Given the description of an element on the screen output the (x, y) to click on. 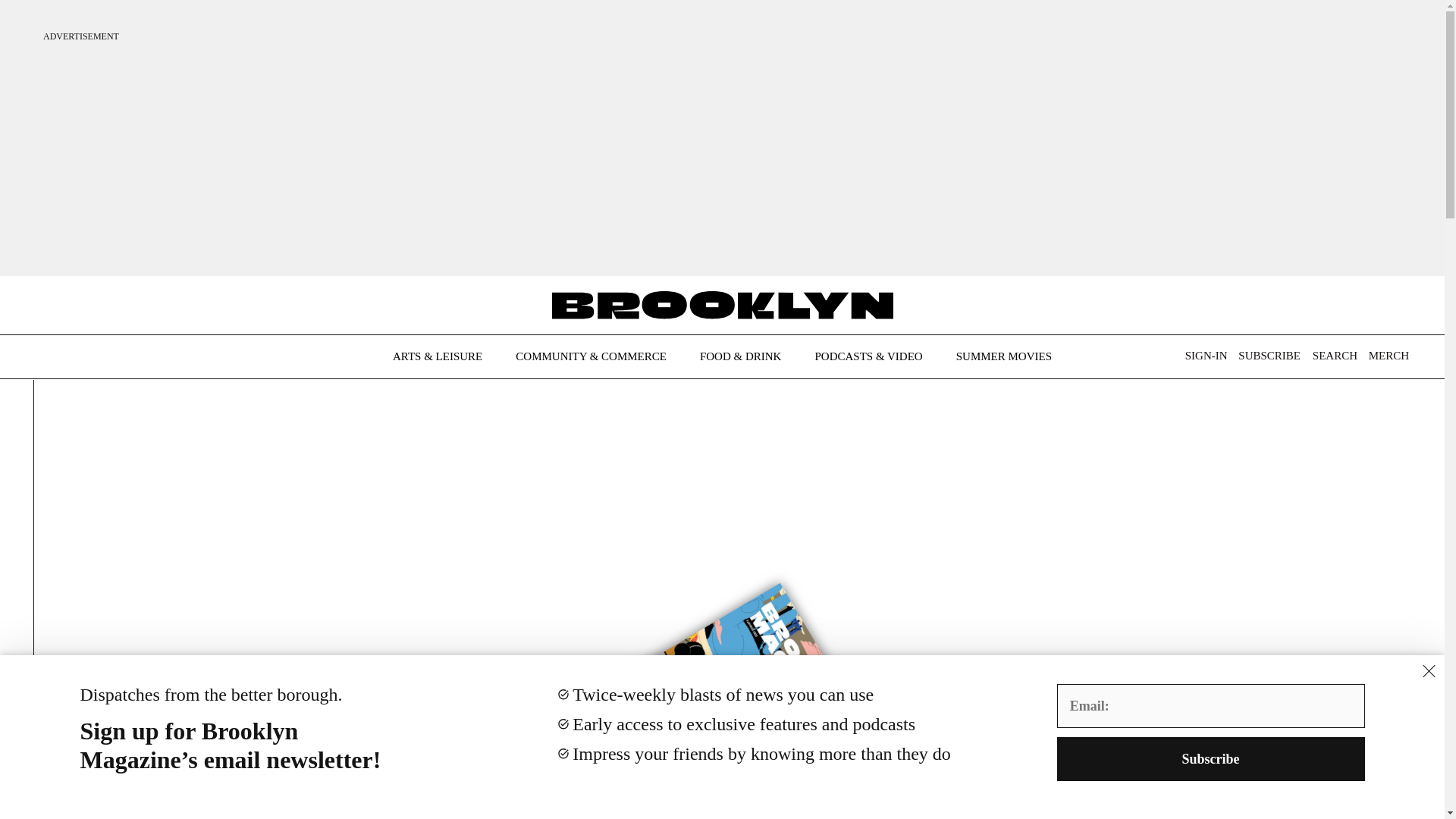
SIGN-IN (1206, 355)
SUMMER MOVIES (1003, 356)
SEARCH (1330, 359)
SUBSCRIBE (1269, 355)
MERCH (1388, 355)
